Given the description of an element on the screen output the (x, y) to click on. 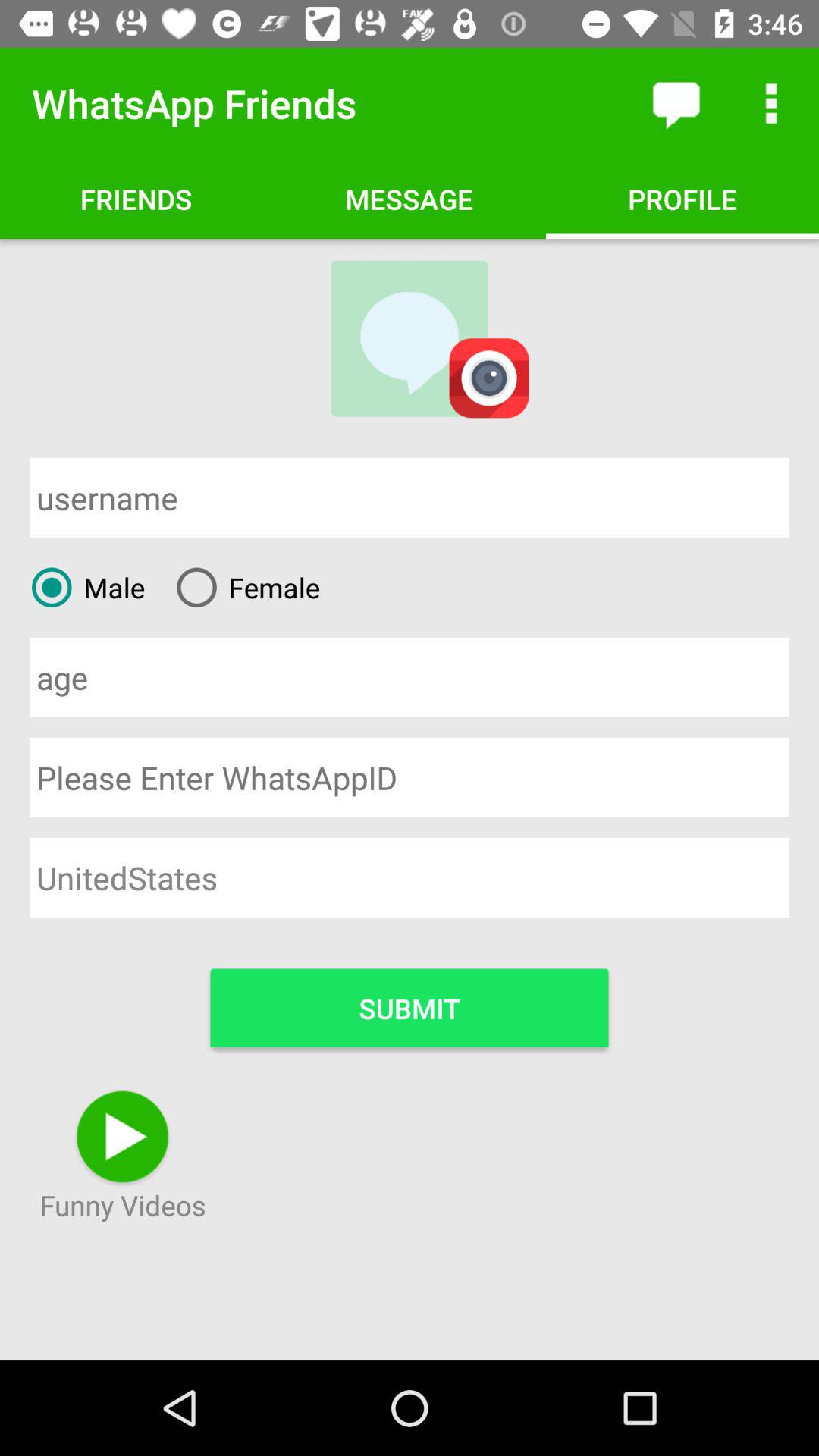
turn on icon above the male item (409, 497)
